Given the description of an element on the screen output the (x, y) to click on. 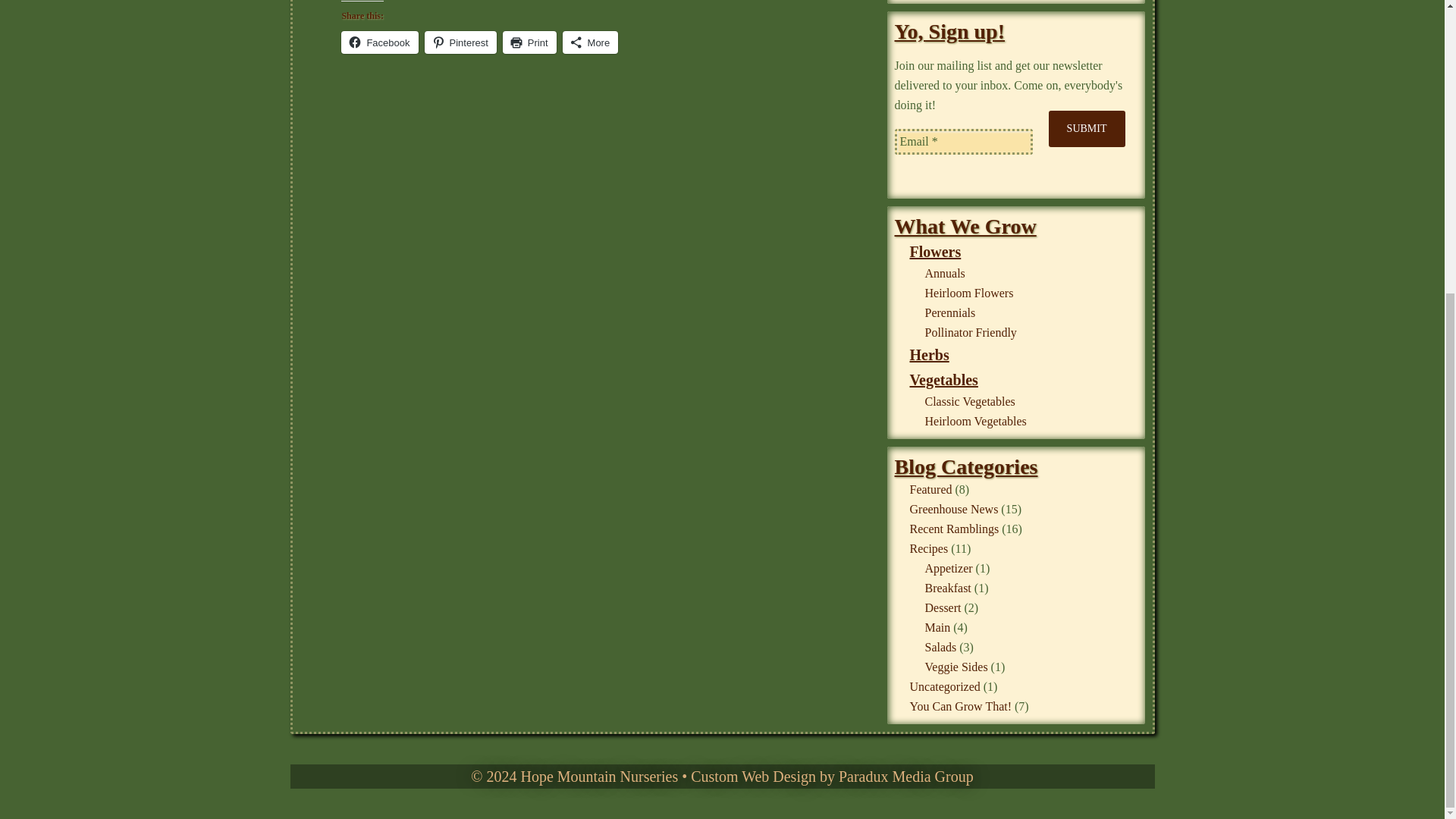
Pollinator Friendly (970, 332)
Recent Ramblings (954, 528)
Paradux Media Group Custom Web Design (831, 776)
Submit (1086, 128)
Heirloom Flowers (968, 292)
Classic Vegetables (969, 400)
Click to share on Facebook (378, 42)
Greenhouse News (954, 508)
Click to share on Pinterest (460, 42)
Annuals (944, 273)
Herbs (929, 354)
Submit (1086, 128)
Heirloom Vegetables (975, 420)
Flowers (935, 251)
More (590, 42)
